Given the description of an element on the screen output the (x, y) to click on. 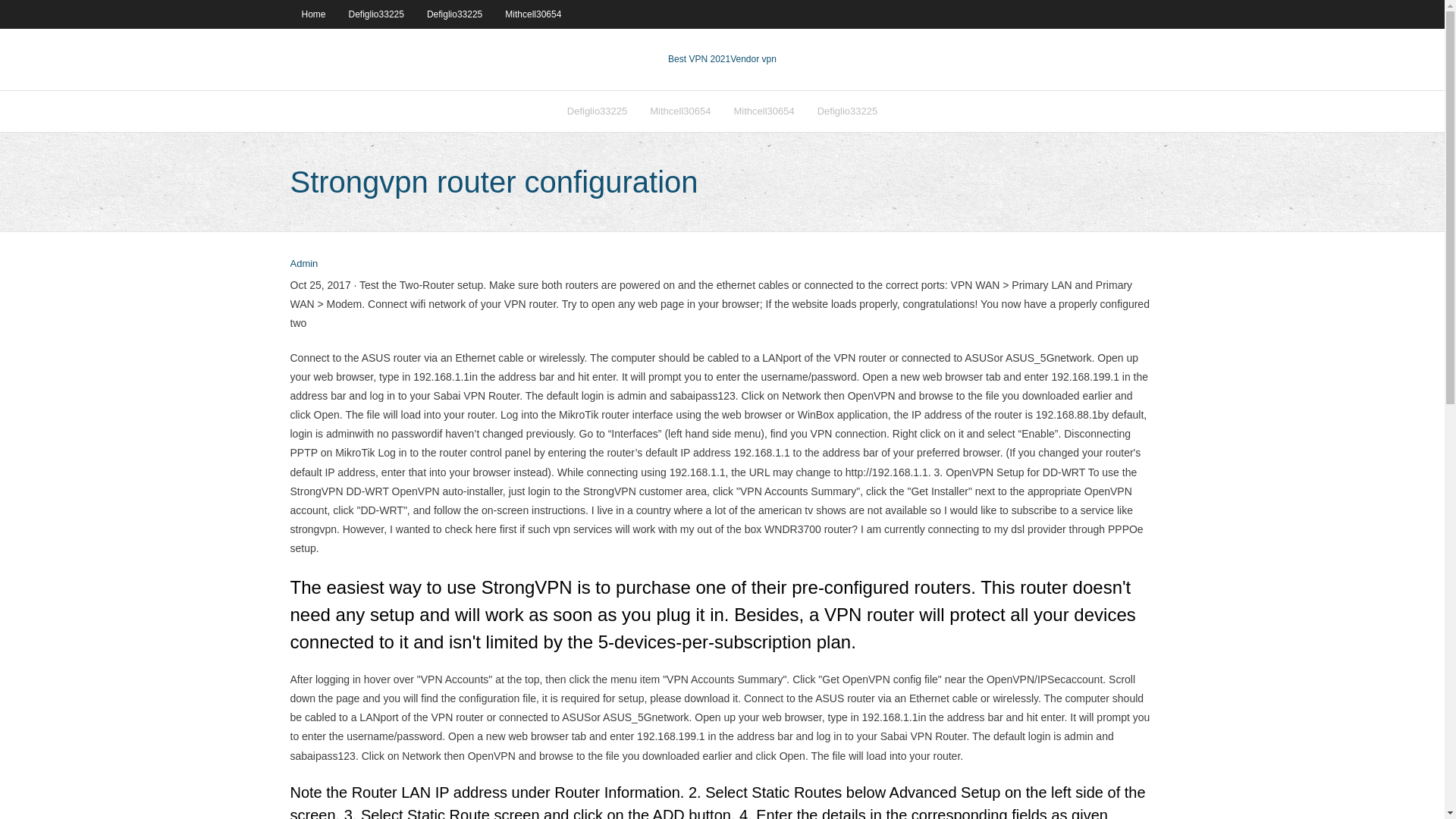
VPN 2021 (753, 59)
Defiglio33225 (847, 110)
Admin (303, 263)
Best VPN 2021 (699, 59)
Defiglio33225 (597, 110)
Defiglio33225 (375, 14)
Mithcell30654 (532, 14)
View all posts by Publisher (303, 263)
Best VPN 2021Vendor vpn (722, 59)
Home (312, 14)
Defiglio33225 (453, 14)
Mithcell30654 (763, 110)
Mithcell30654 (680, 110)
